Given the description of an element on the screen output the (x, y) to click on. 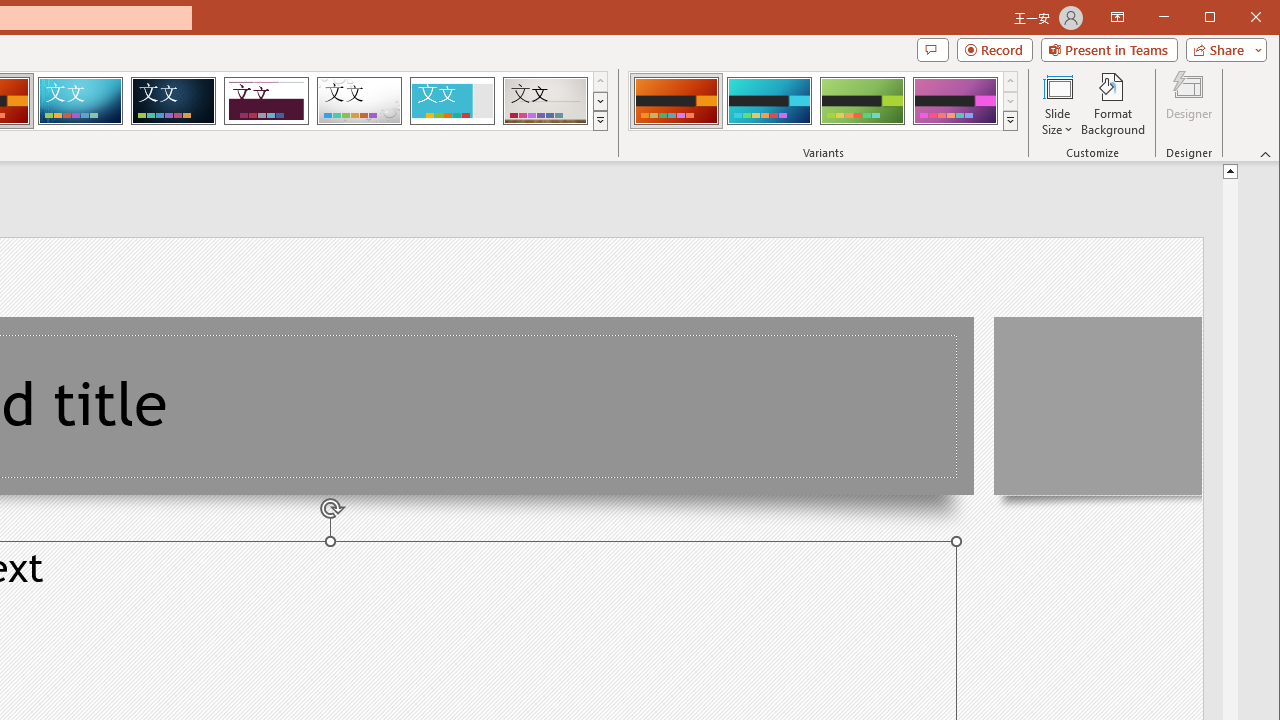
Berlin Variant 4 (955, 100)
Themes (600, 120)
Slide Size (1057, 104)
Berlin Variant 1 (676, 100)
Variants (1010, 120)
Gallery (545, 100)
